Given the description of an element on the screen output the (x, y) to click on. 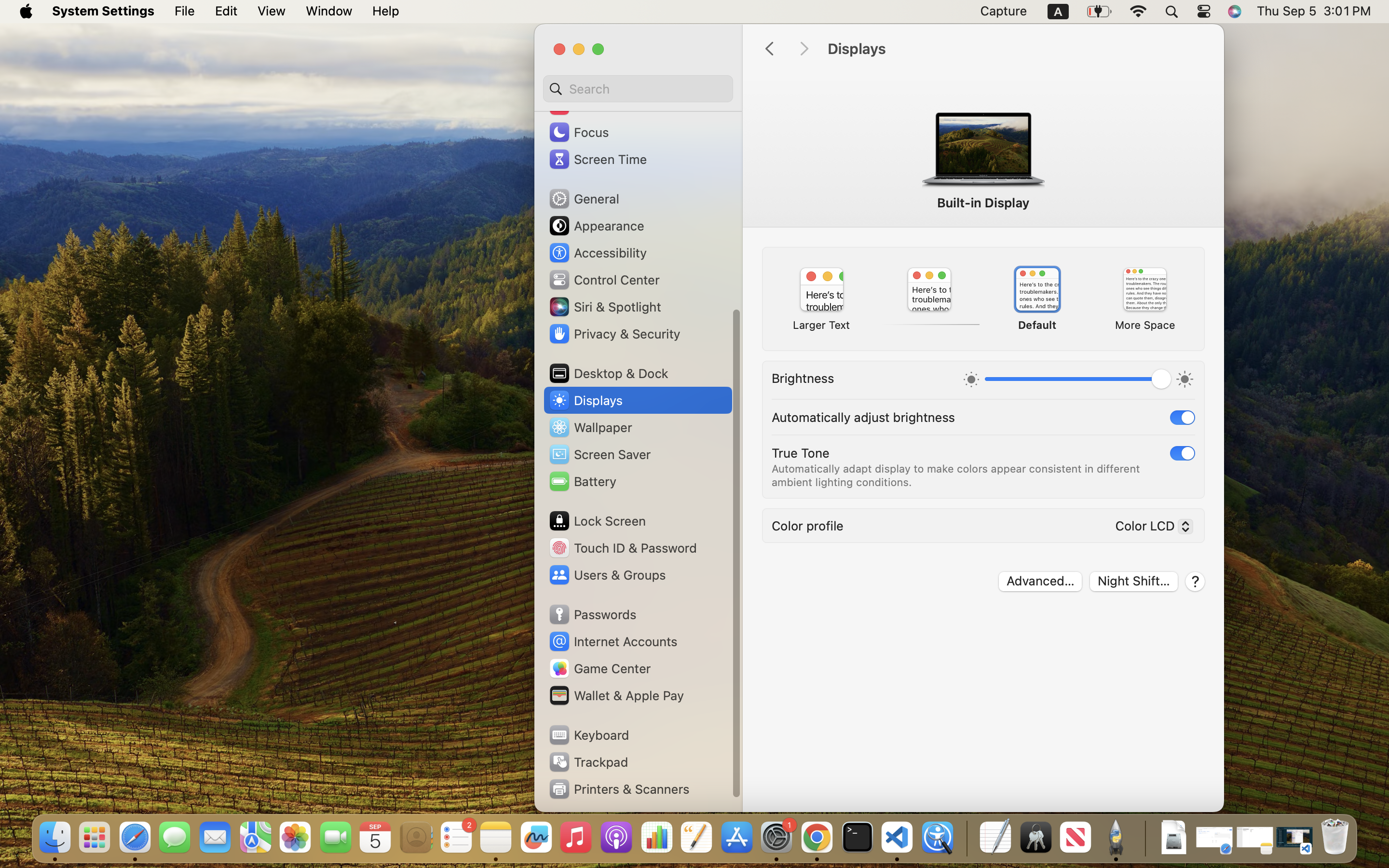
Wallpaper Element type: AXStaticText (589, 426)
Privacy & Security Element type: AXStaticText (613, 333)
Color profile Element type: AXStaticText (807, 525)
Displays Element type: AXStaticText (1015, 49)
Screen Saver Element type: AXStaticText (599, 453)
